Given the description of an element on the screen output the (x, y) to click on. 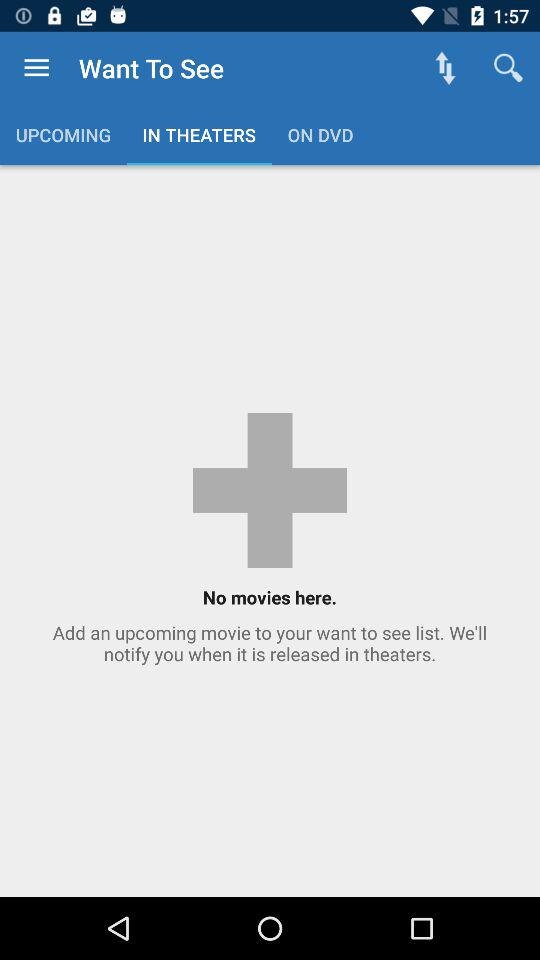
launch the icon above the add an upcoming icon (444, 67)
